Given the description of an element on the screen output the (x, y) to click on. 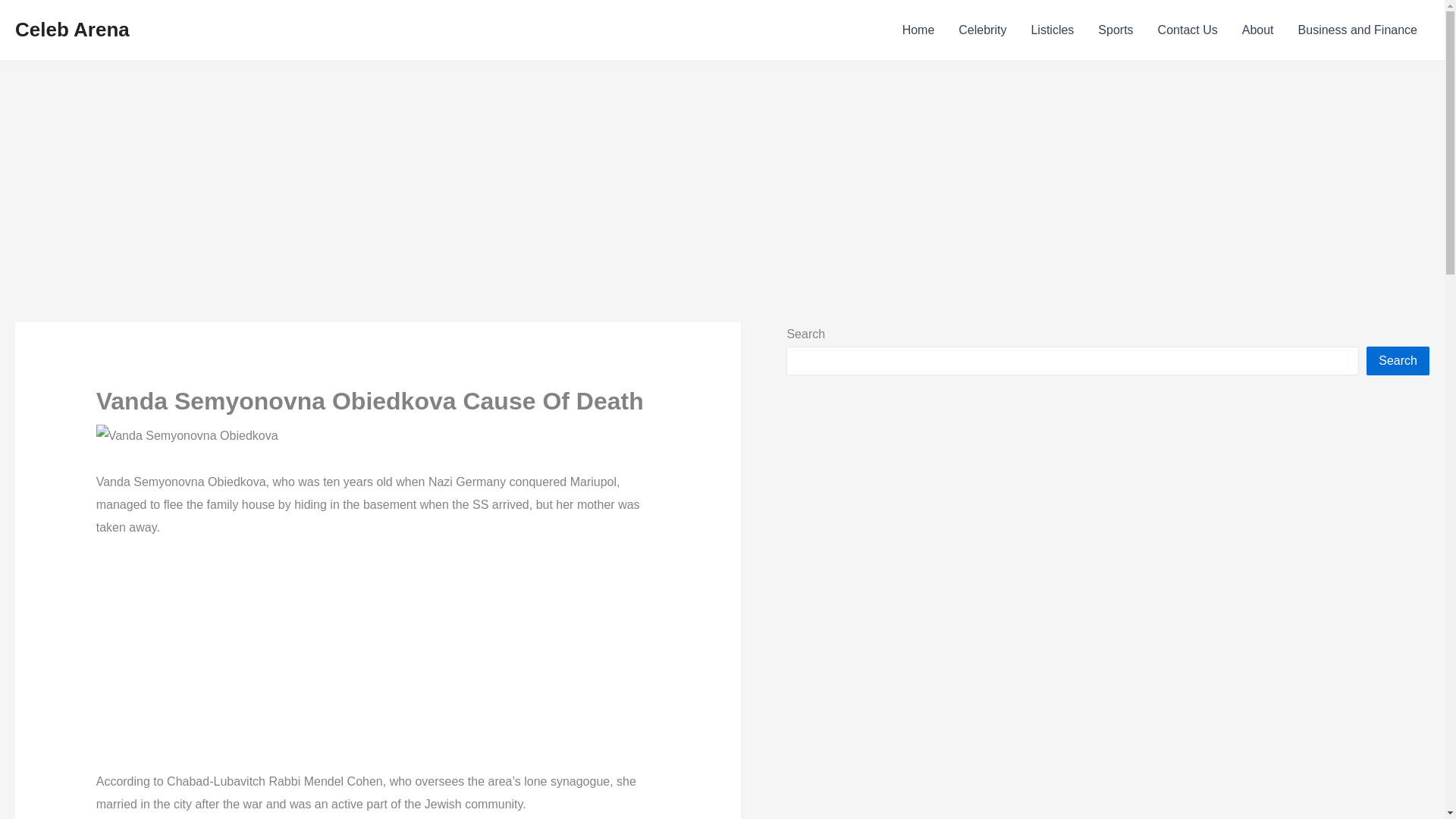
Celebrity (981, 30)
Business and Finance (1357, 30)
Contact Us (1187, 30)
Sports (1115, 30)
Celeb Arena (71, 29)
Home (918, 30)
Listicles (1051, 30)
Advertisement (378, 663)
About (1257, 30)
